Given the description of an element on the screen output the (x, y) to click on. 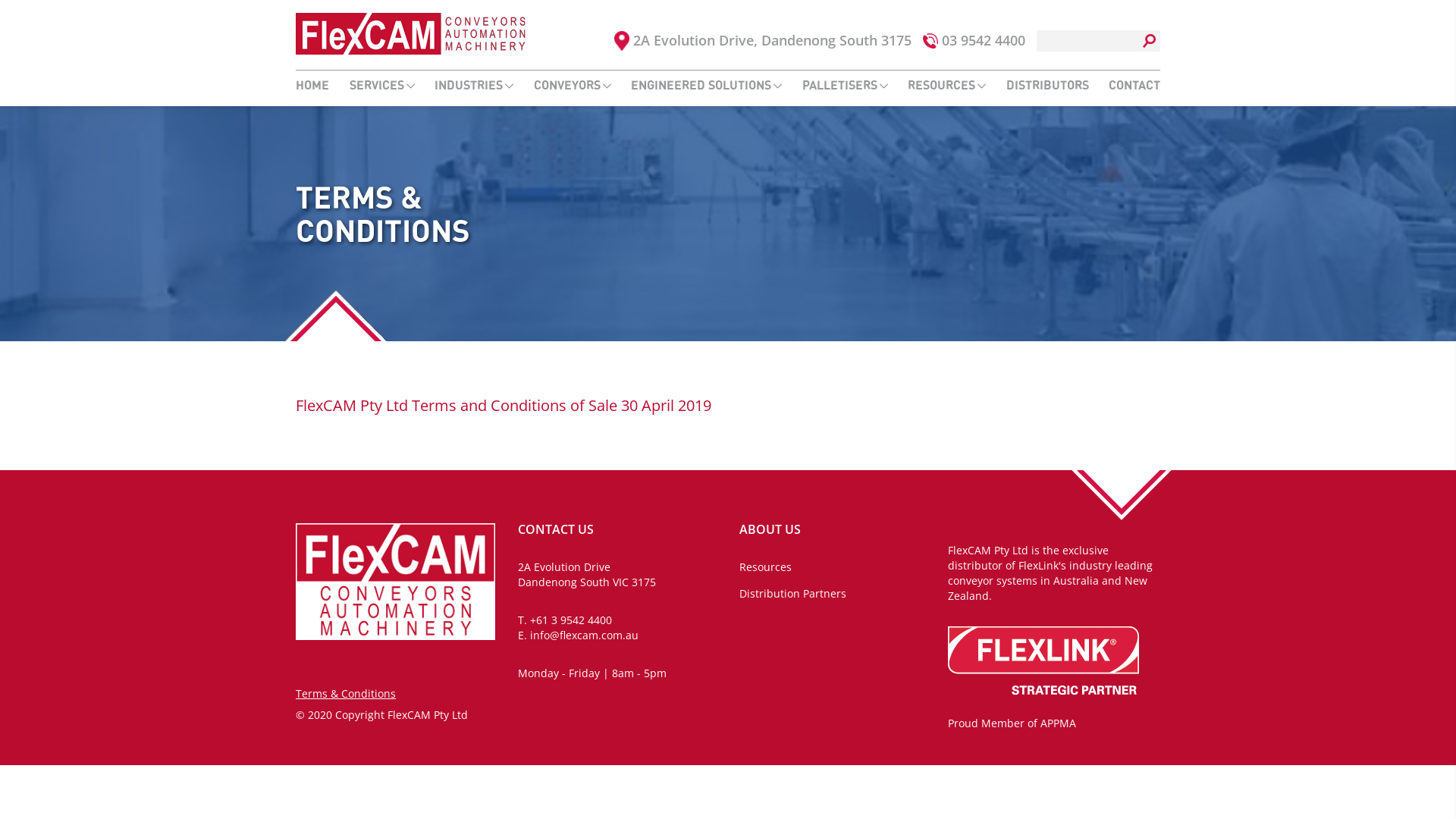
CONTACT Element type: text (1134, 85)
INDUSTRIES Element type: text (473, 85)
Search Element type: text (28, 12)
SERVICES Element type: text (381, 85)
Distribution Partners Element type: text (792, 593)
HOME Element type: text (312, 85)
ENGINEERED SOLUTIONS Element type: text (705, 85)
PALLETISERS Element type: text (845, 85)
Resources Element type: text (765, 566)
DISTRIBUTORS Element type: text (1046, 85)
Terms & Conditions Element type: text (345, 693)
FlexCAM Pty Ltd Terms and Conditions of Sale 30 April 2019 Element type: text (503, 405)
RESOURCES Element type: text (946, 85)
+61 3 9542 4400 Element type: text (570, 619)
03 9542 4400 Element type: text (983, 40)
2A Evolution Drive, Dandenong South 3175 Element type: text (772, 40)
CONVEYORS Element type: text (572, 85)
info@flexcam.com.au Element type: text (583, 634)
Proud Member of APPMA Element type: text (1011, 722)
